Given the description of an element on the screen output the (x, y) to click on. 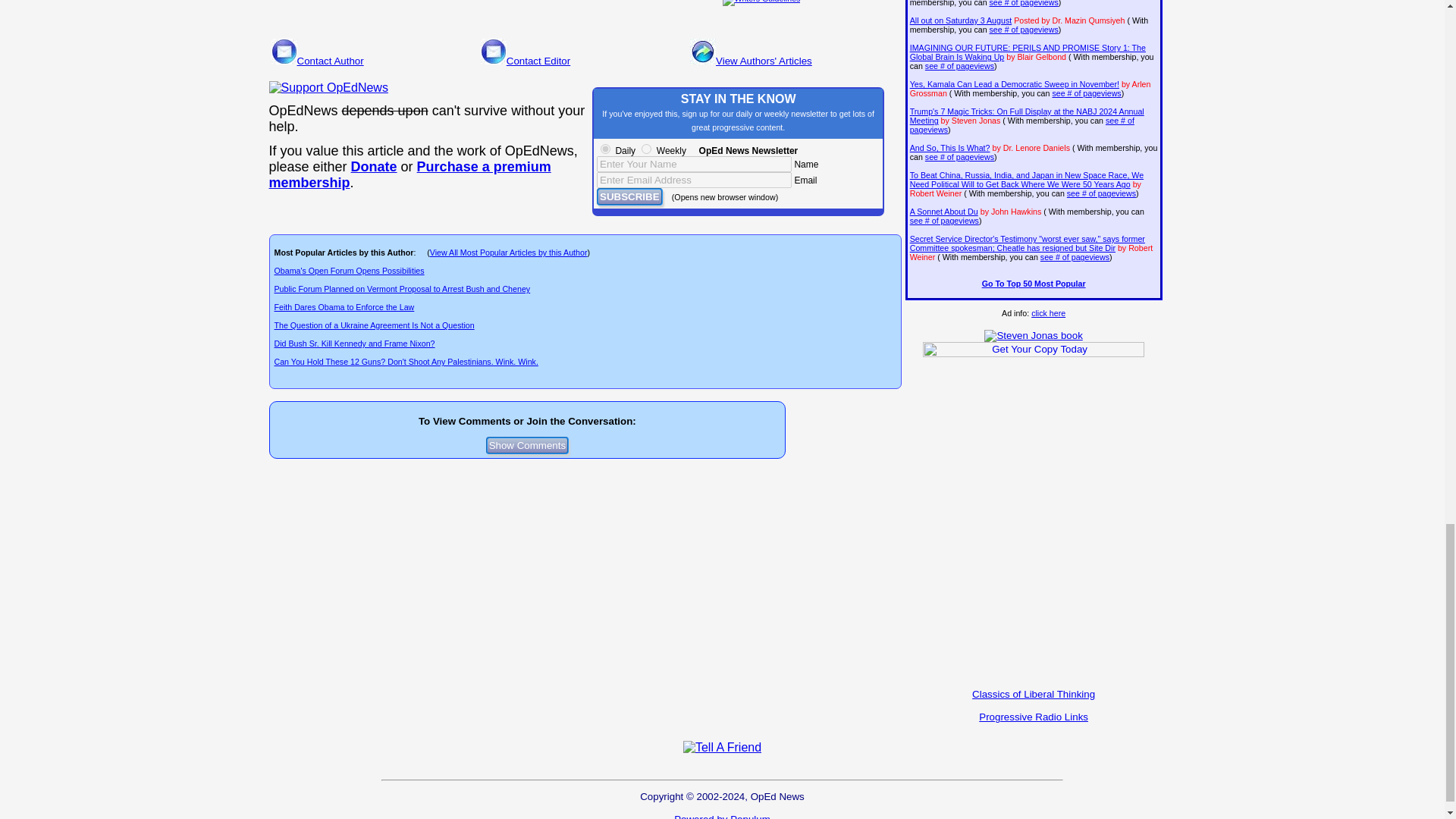
Writers Guidelines (761, 2)
-- (373, 166)
-- (408, 174)
SUBSCRIBE (629, 196)
Enter Your Name (694, 163)
Show Comments (527, 445)
Weekly (646, 148)
Daily (604, 148)
Support OpEdNews (327, 88)
Enter Email Address (694, 179)
